Given the description of an element on the screen output the (x, y) to click on. 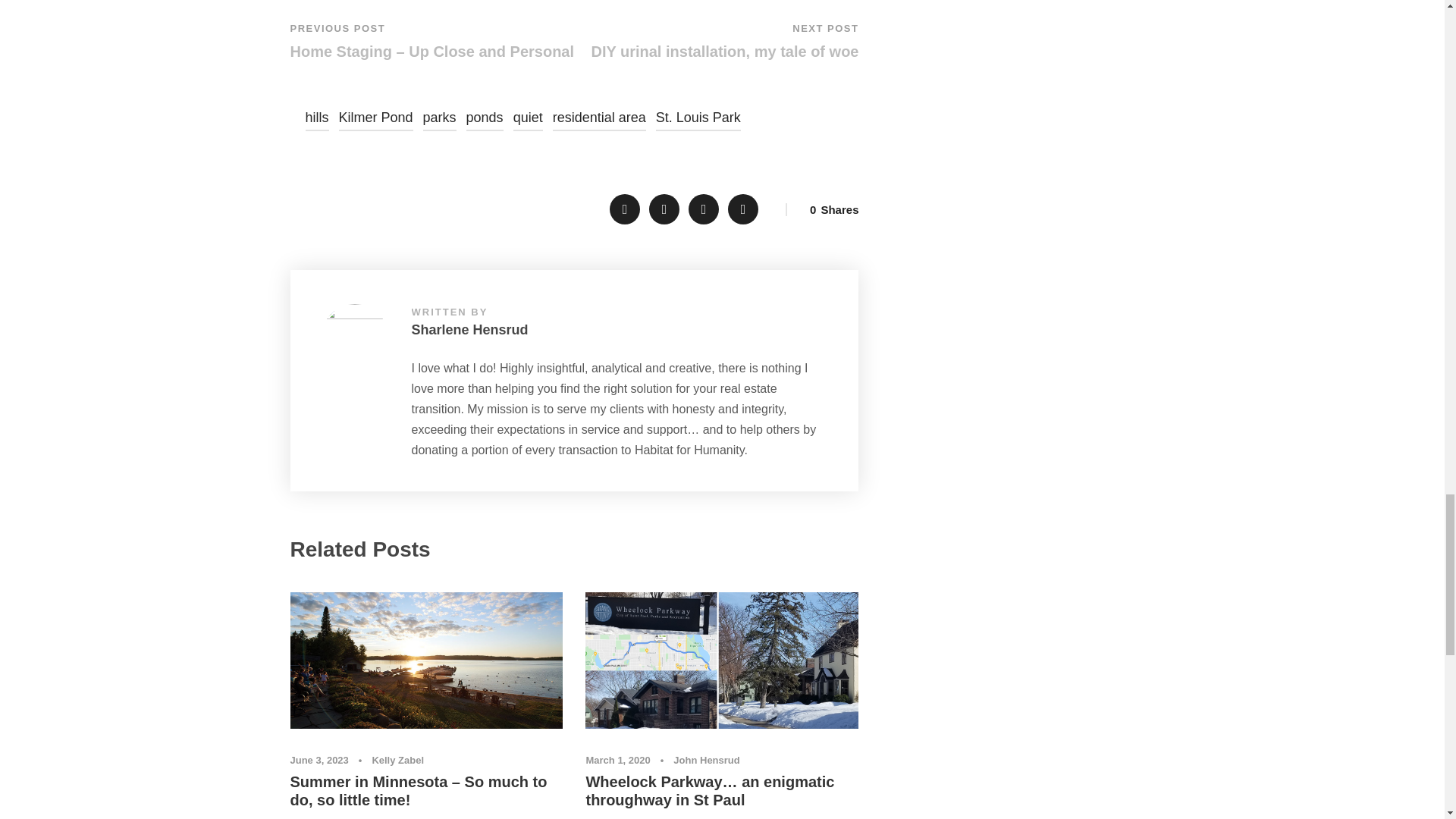
Posts by Kelly Zabel (397, 759)
wheelock pkwy (722, 660)
Posts by Sharlene Hensrud (468, 329)
featured june 2 (425, 660)
Posts by John Hensrud (705, 759)
